Given the description of an element on the screen output the (x, y) to click on. 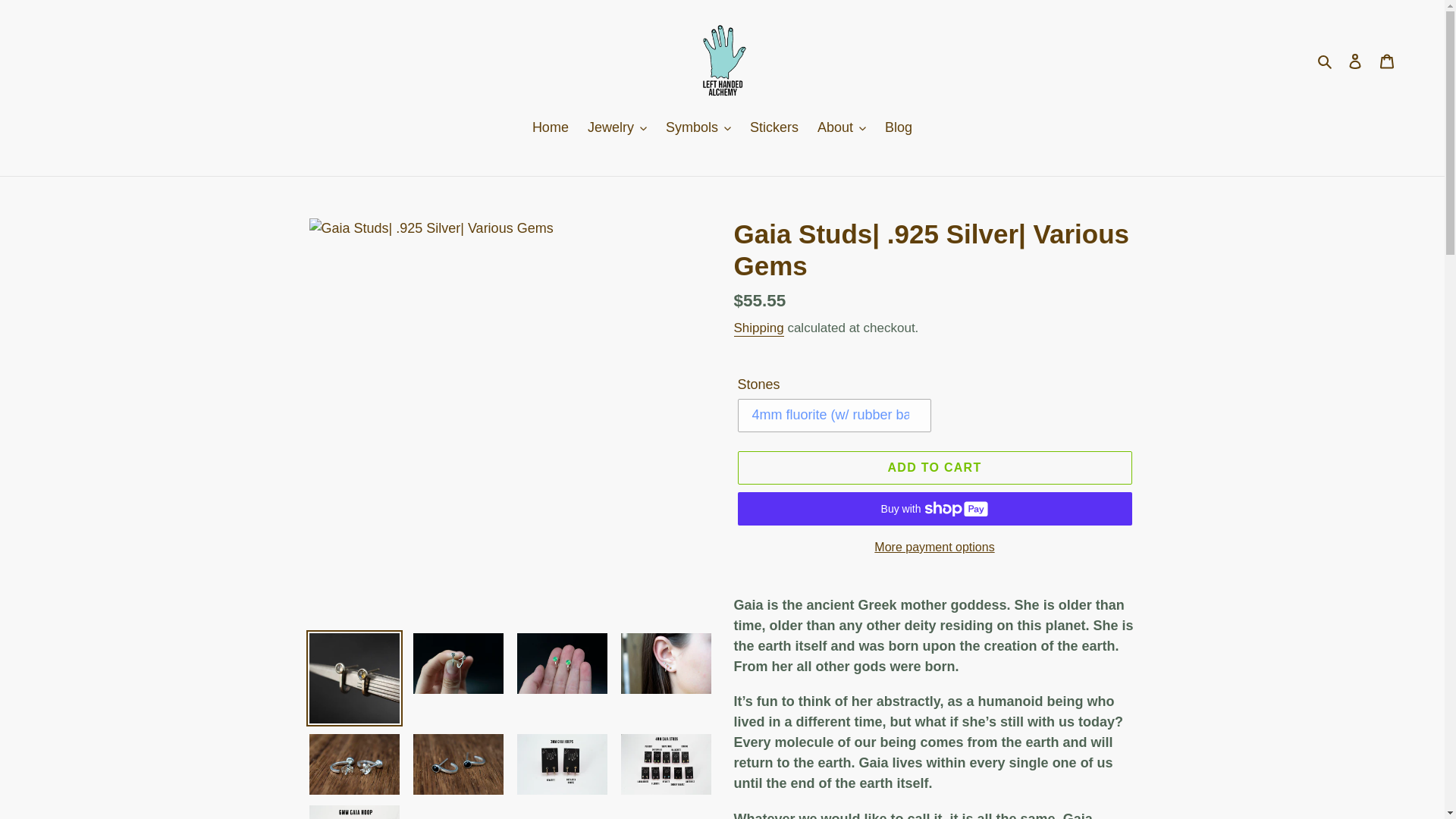
Search (1326, 60)
Cart (1387, 59)
Jewelry (616, 128)
Home (550, 128)
Log in (1355, 59)
